Given the description of an element on the screen output the (x, y) to click on. 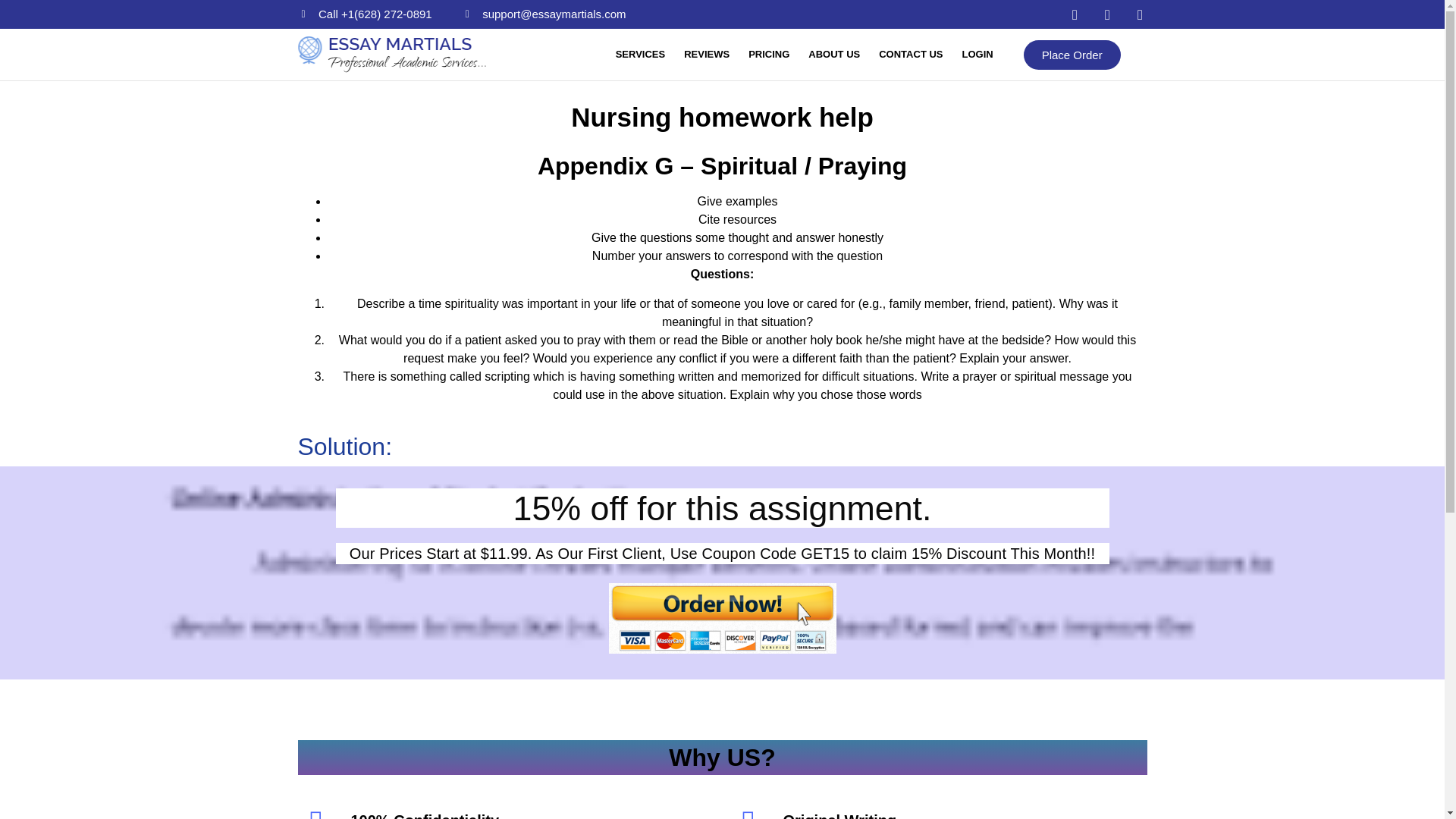
REVIEWS (706, 54)
CONTACT US (910, 54)
SERVICES (640, 54)
PRICING (769, 54)
ABOUT US (834, 54)
Place Order (1072, 53)
LOGIN (976, 54)
